Given the description of an element on the screen output the (x, y) to click on. 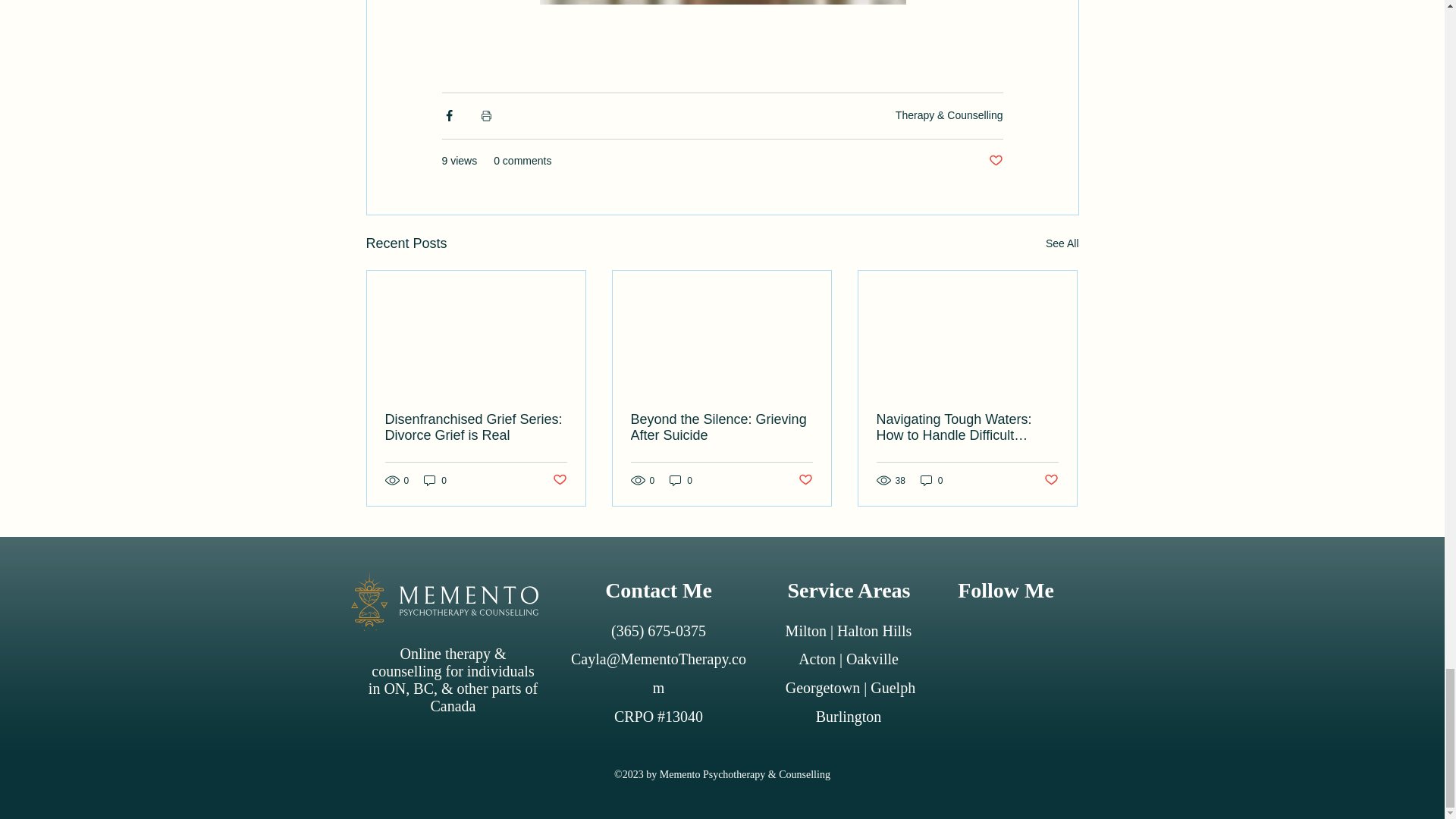
Disenfranchised Grief Series: Divorce Grief is Real (476, 427)
Post not marked as liked (558, 480)
0 (435, 480)
Post not marked as liked (995, 160)
0 (681, 480)
Beyond the Silence: Grieving After Suicide (721, 427)
Post not marked as liked (804, 480)
See All (1061, 243)
